Given the description of an element on the screen output the (x, y) to click on. 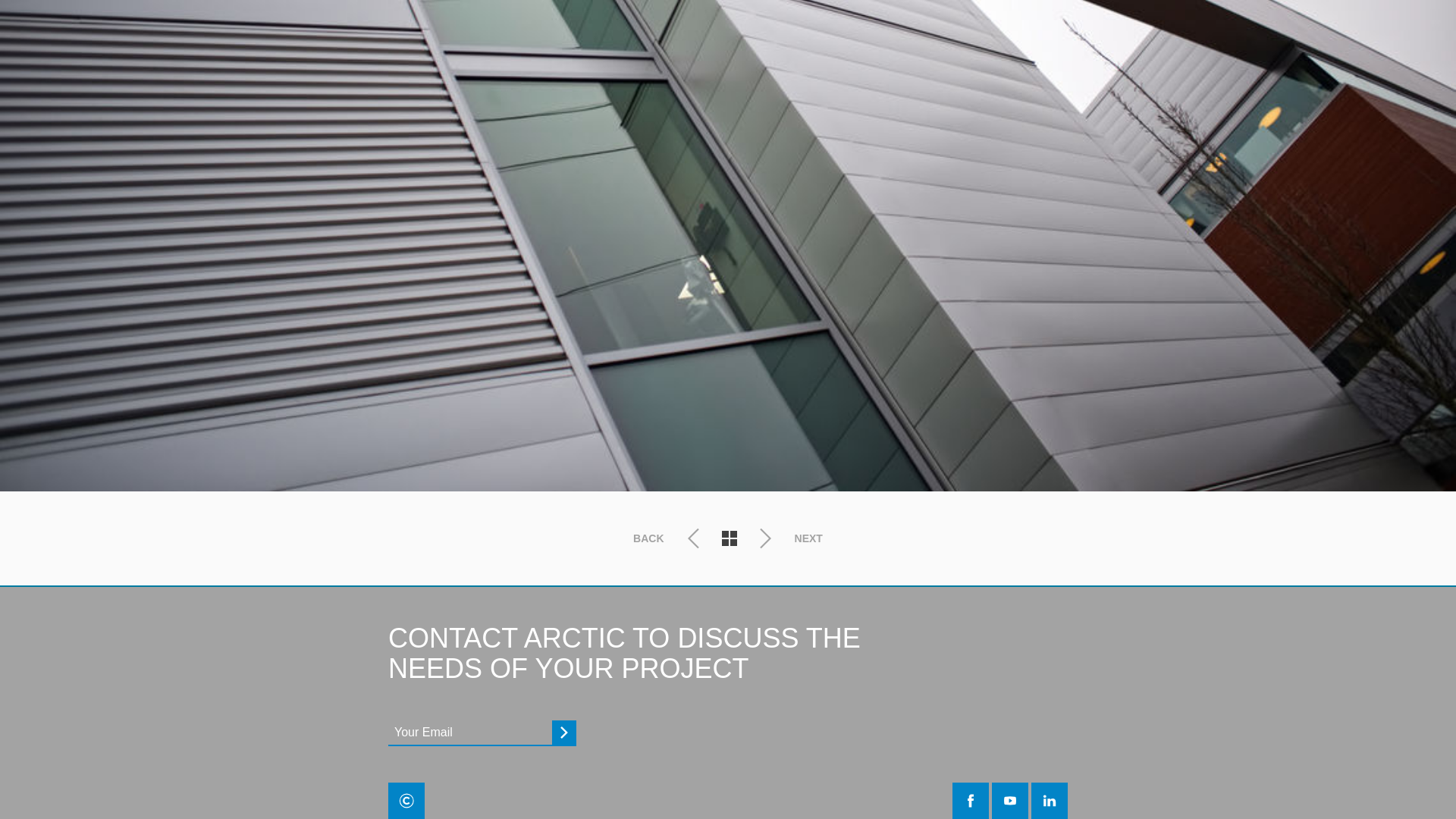
BACK (668, 537)
